Given the description of an element on the screen output the (x, y) to click on. 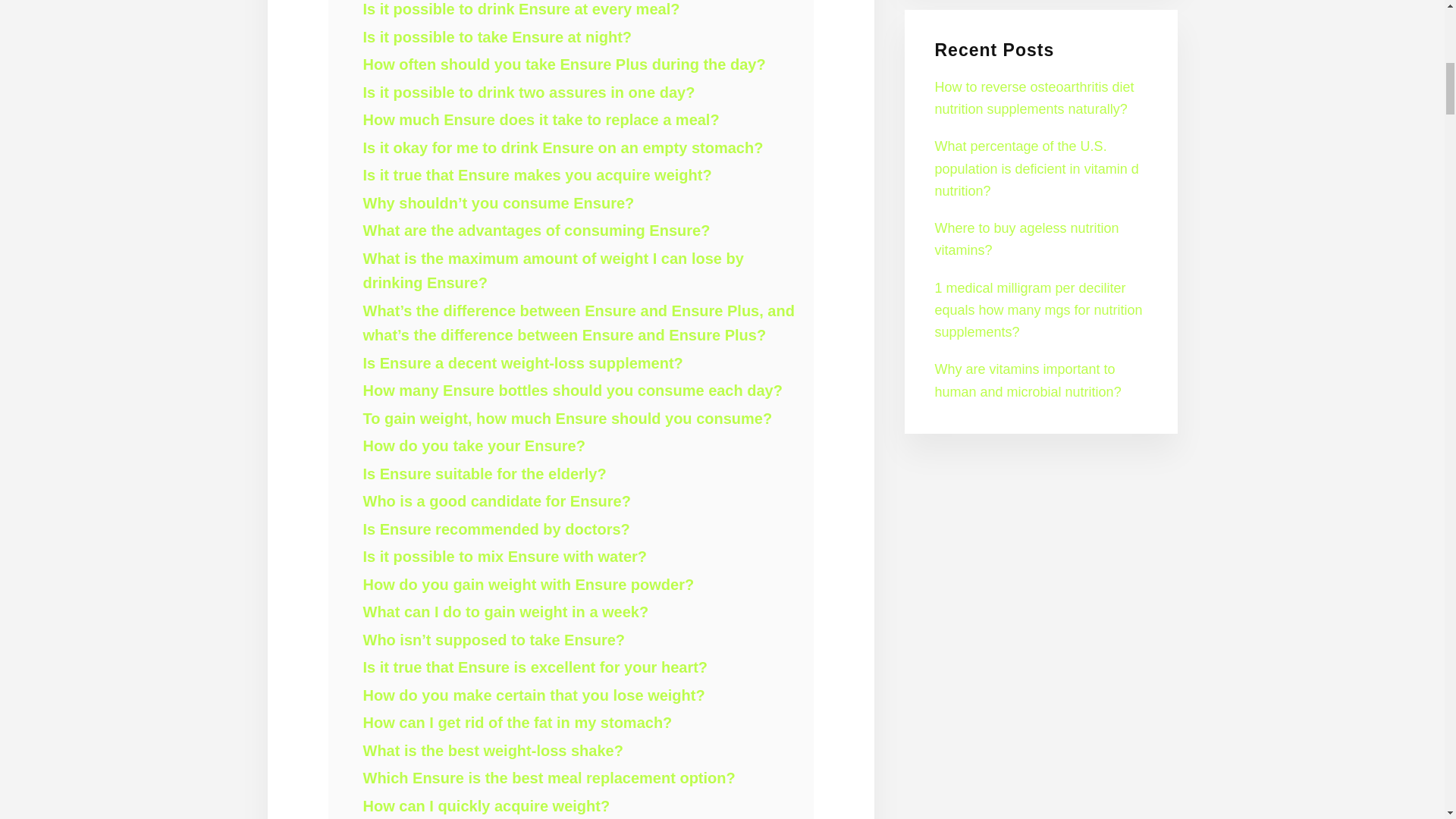
Is it possible to drink Ensure at every meal? (520, 8)
